Given the description of an element on the screen output the (x, y) to click on. 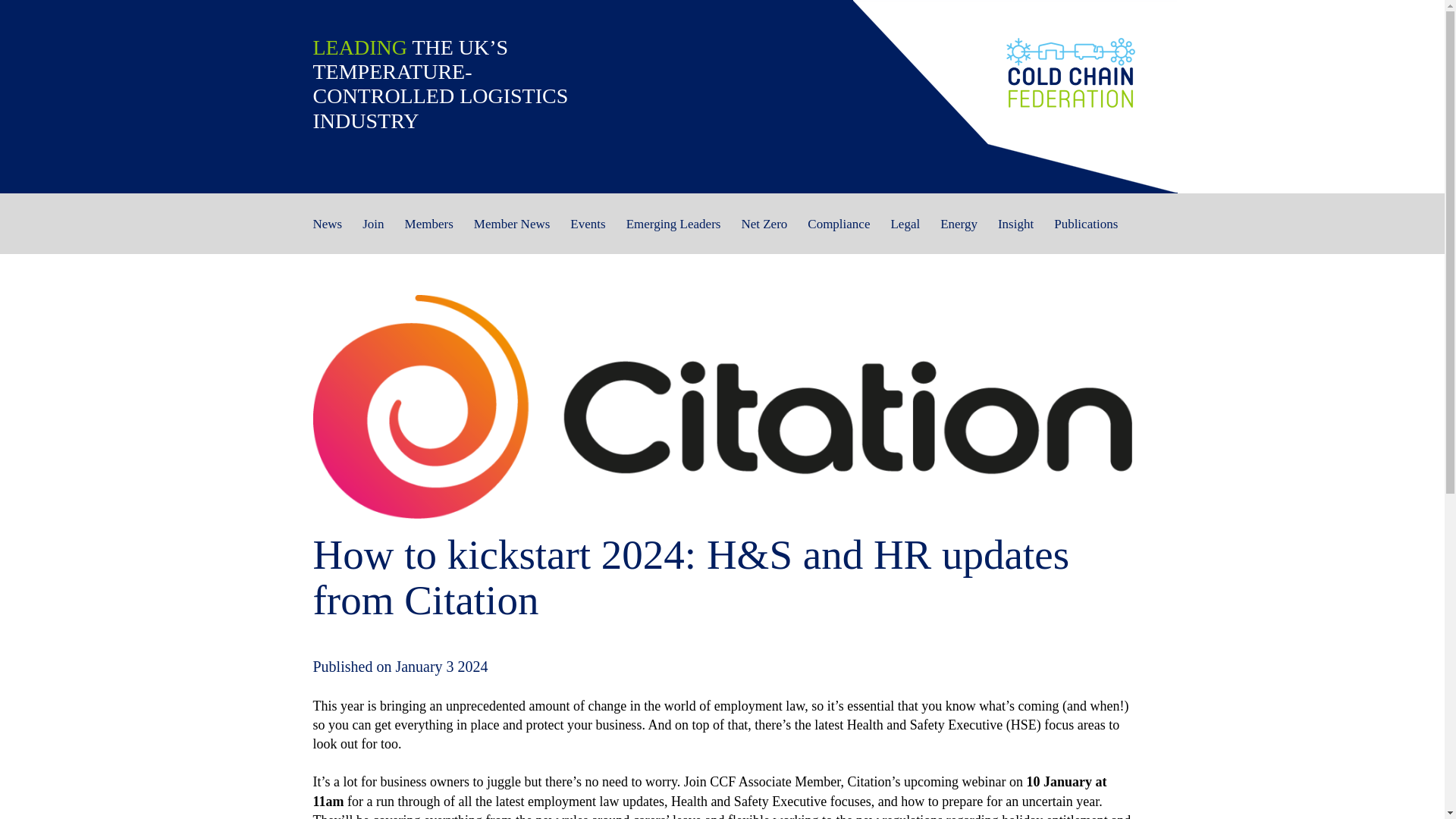
Member News (512, 233)
Emerging Leaders (673, 233)
Energy (958, 233)
Publications (1086, 233)
Net Zero (764, 233)
Compliance (838, 233)
Members (428, 233)
Insight (1015, 233)
